Given the description of an element on the screen output the (x, y) to click on. 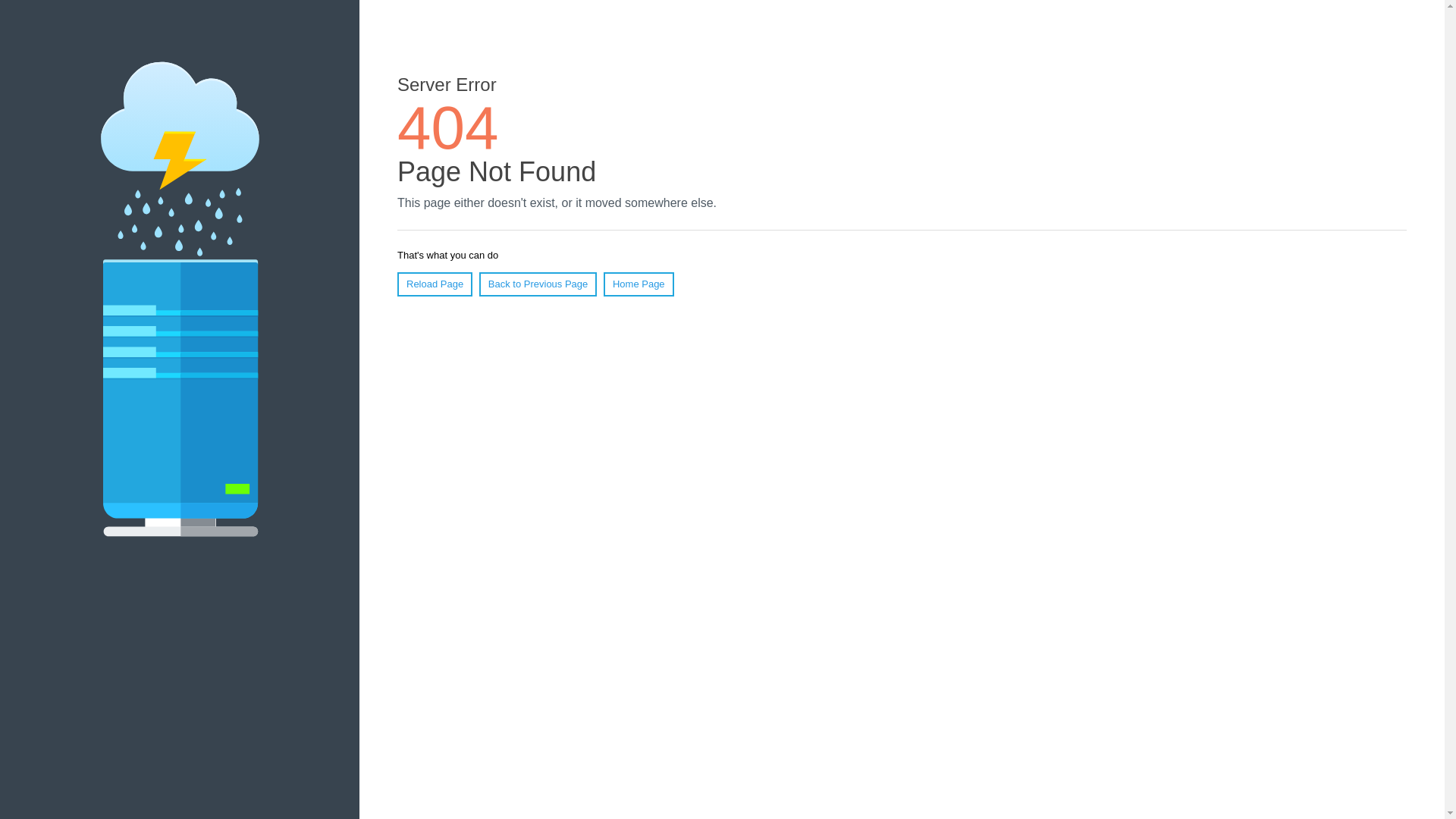
Back to Previous Page Element type: text (538, 284)
Reload Page Element type: text (434, 284)
Home Page Element type: text (638, 284)
